Given the description of an element on the screen output the (x, y) to click on. 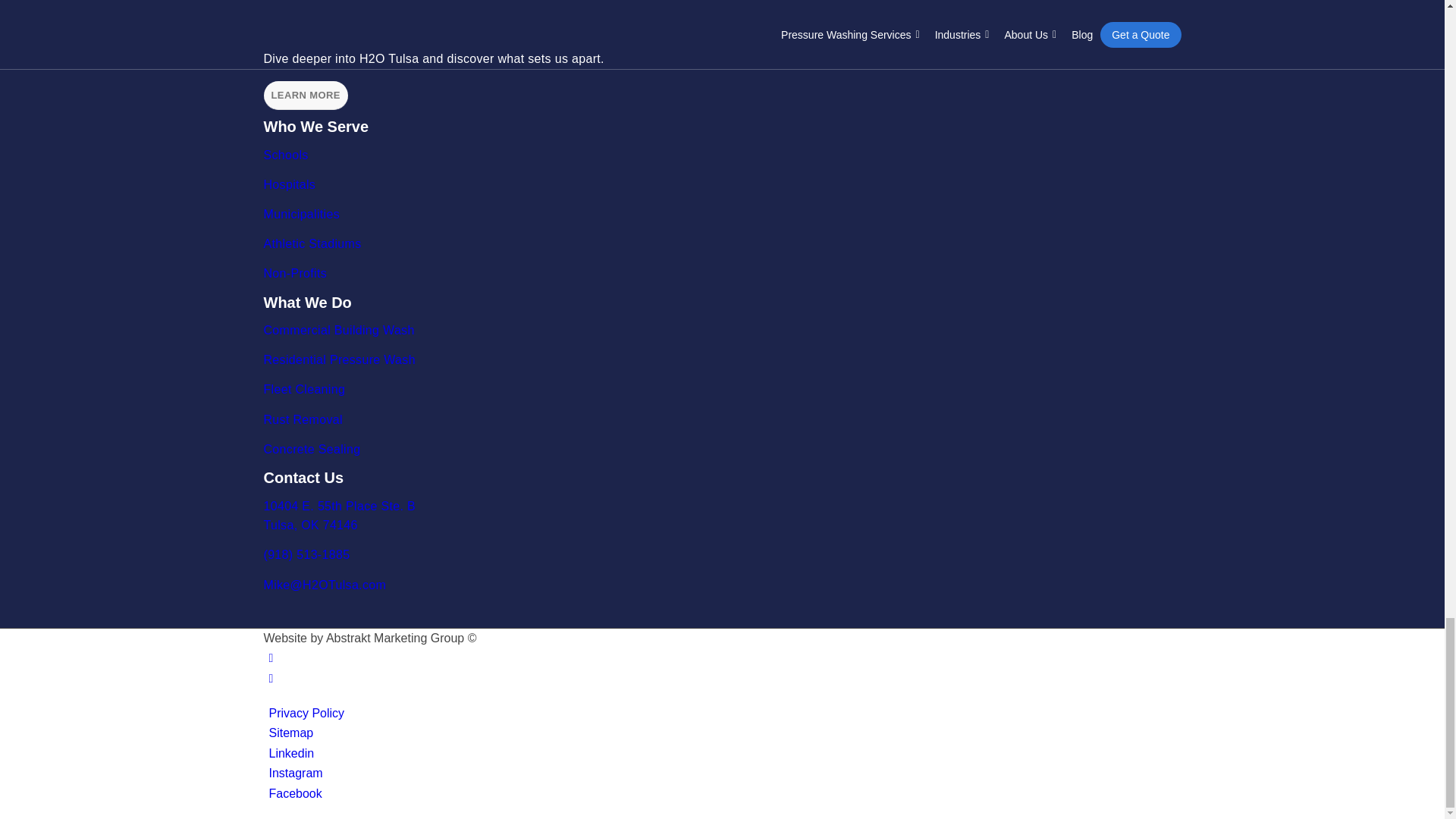
LEARN MORE (305, 95)
Hospitals  (290, 184)
Schools  (288, 154)
